Given the description of an element on the screen output the (x, y) to click on. 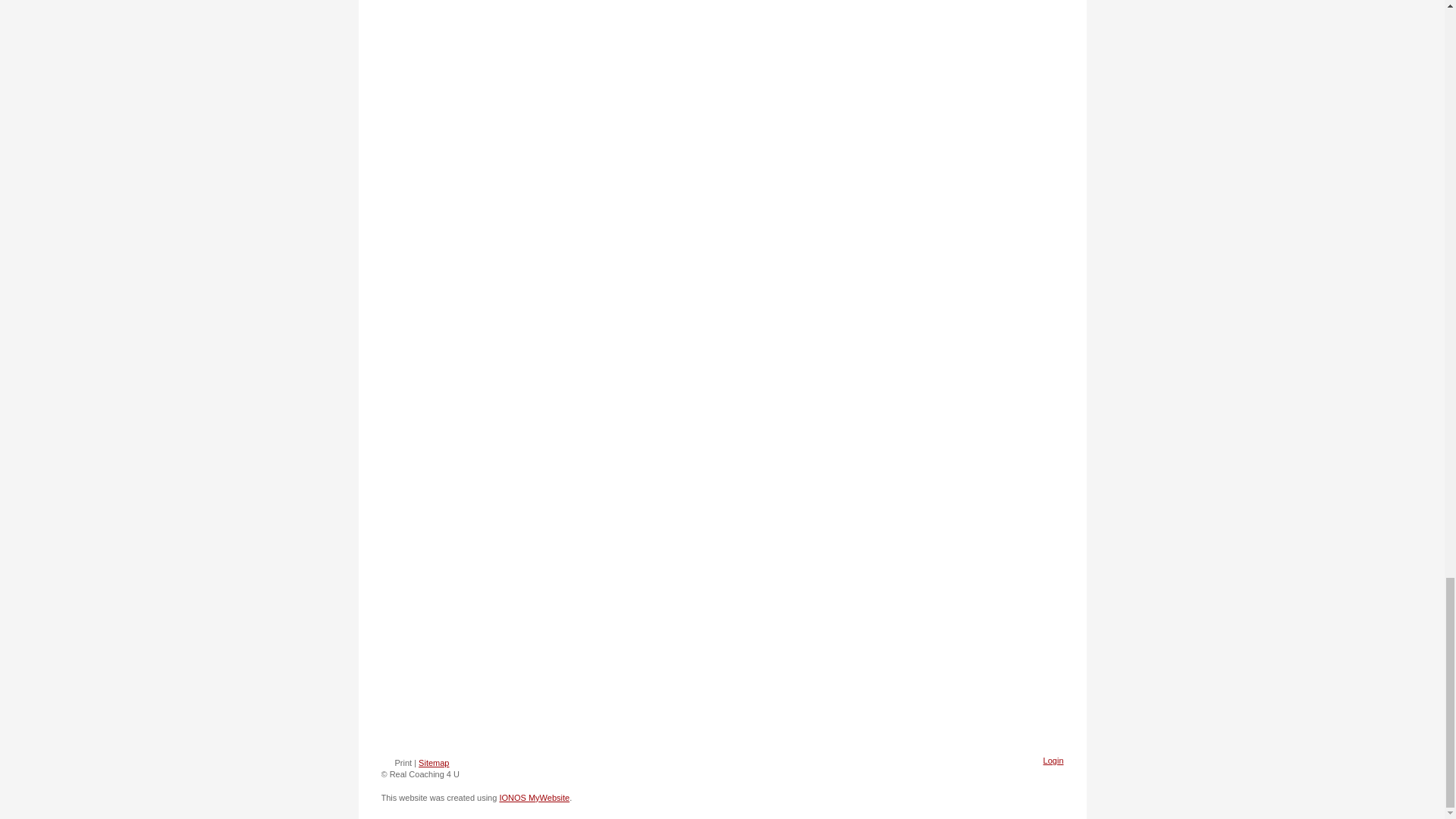
Login (1053, 759)
IONOS MyWebsite (534, 797)
Print (396, 762)
Sitemap (433, 762)
